Given the description of an element on the screen output the (x, y) to click on. 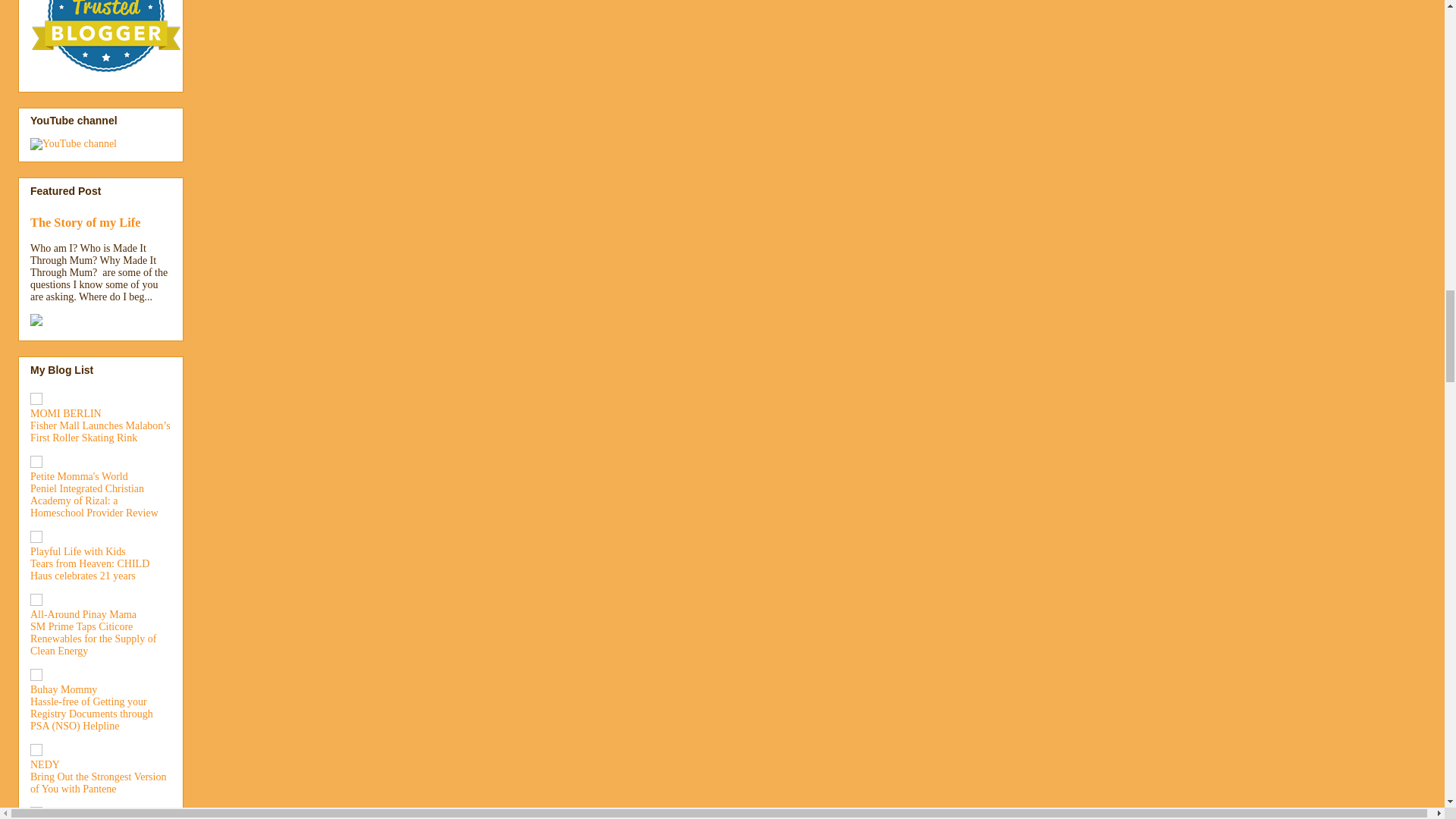
All-Around Pinay Mama (83, 614)
MOMI BERLIN (65, 413)
Bring Out the Strongest Version of You with Pantene (97, 782)
The Story of my Life (84, 222)
Buhay Mommy (63, 689)
Petite Momma's World (79, 476)
Playful Life with Kids (77, 551)
Tears from Heaven: CHILD Haus celebrates 21 years (89, 569)
NEDY (44, 764)
